Given the description of an element on the screen output the (x, y) to click on. 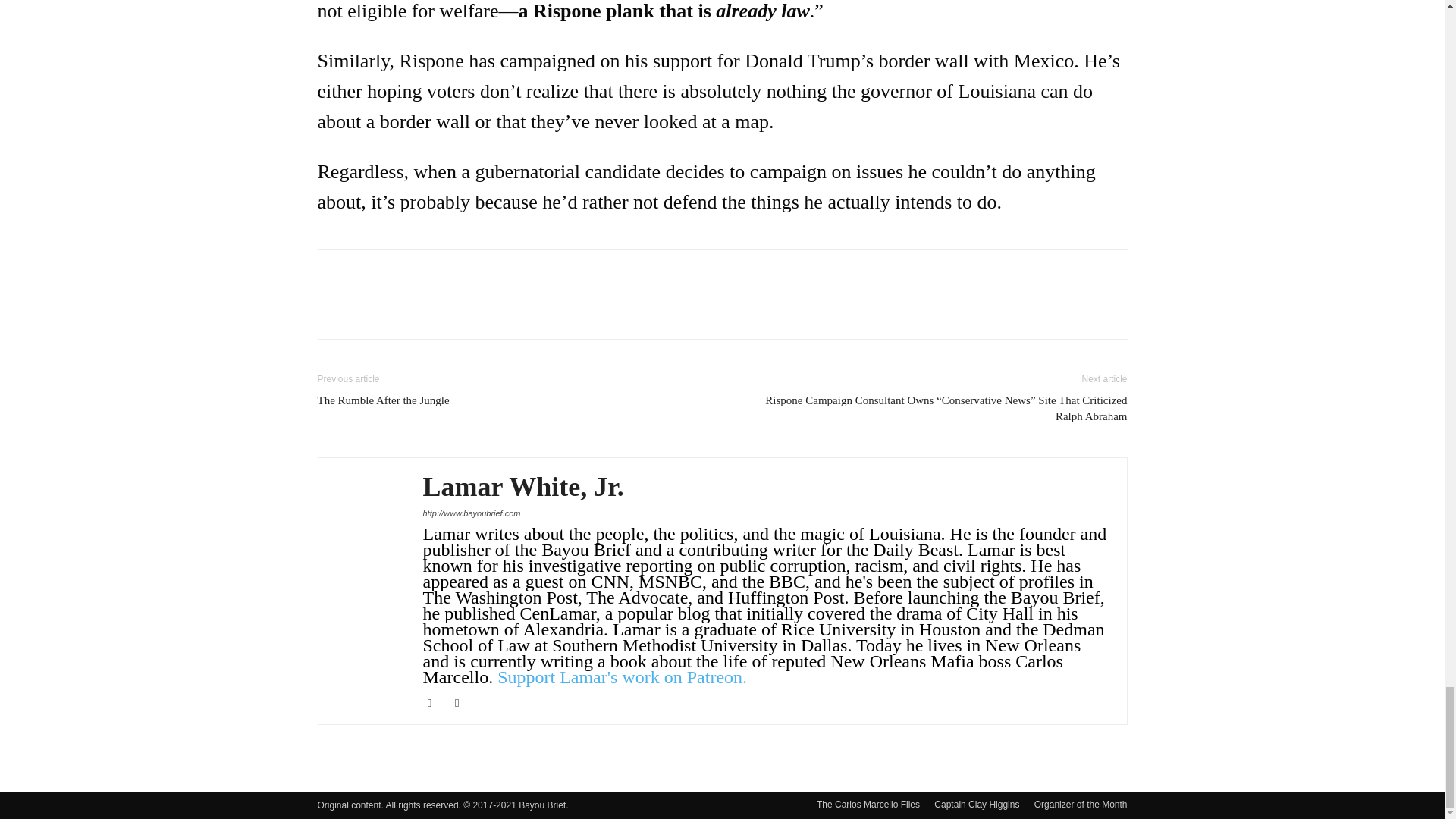
bottomFacebookLike (430, 273)
Twitter (462, 702)
Facebook (435, 702)
